Given the description of an element on the screen output the (x, y) to click on. 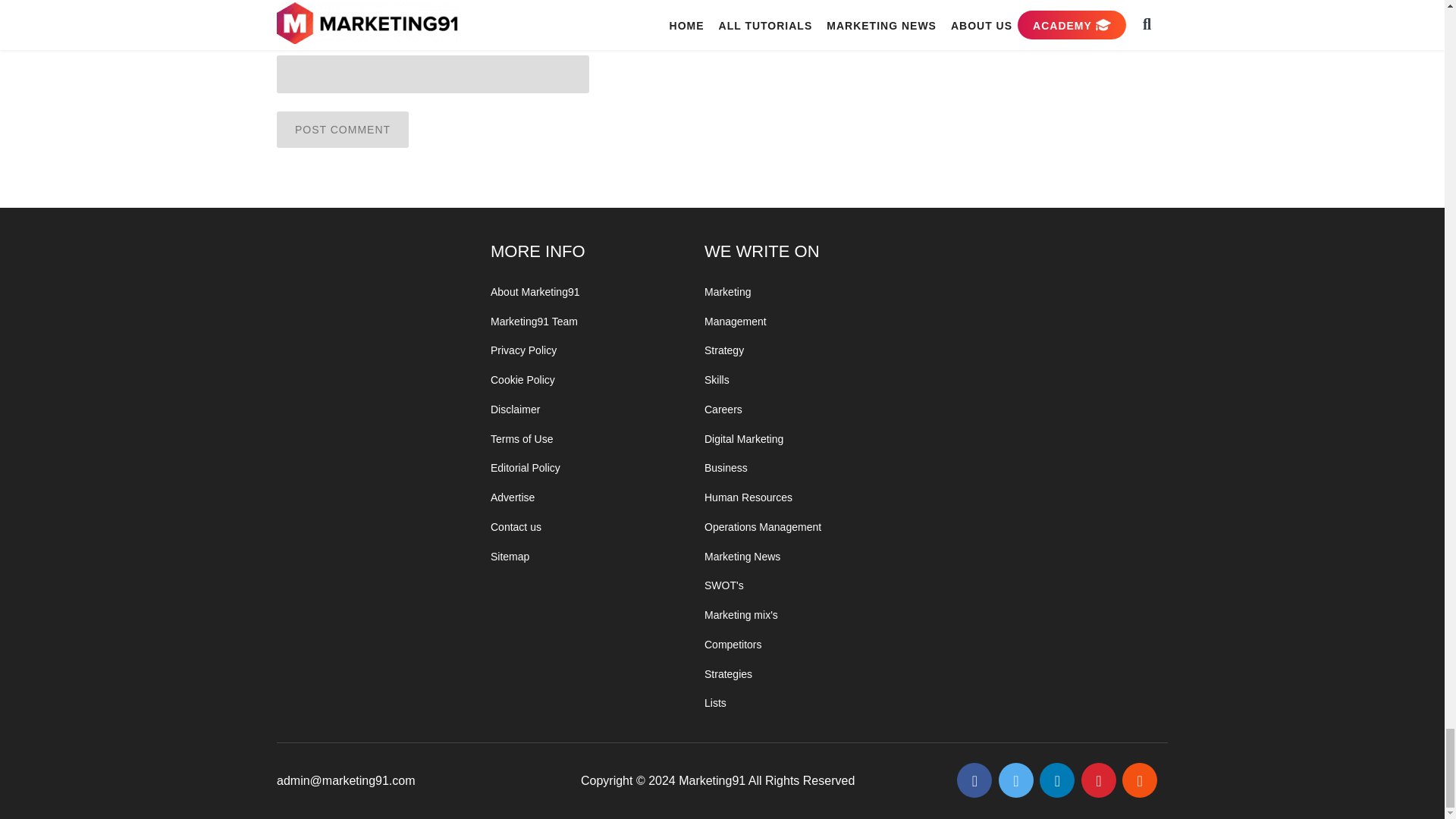
Post Comment (342, 129)
